Given the description of an element on the screen output the (x, y) to click on. 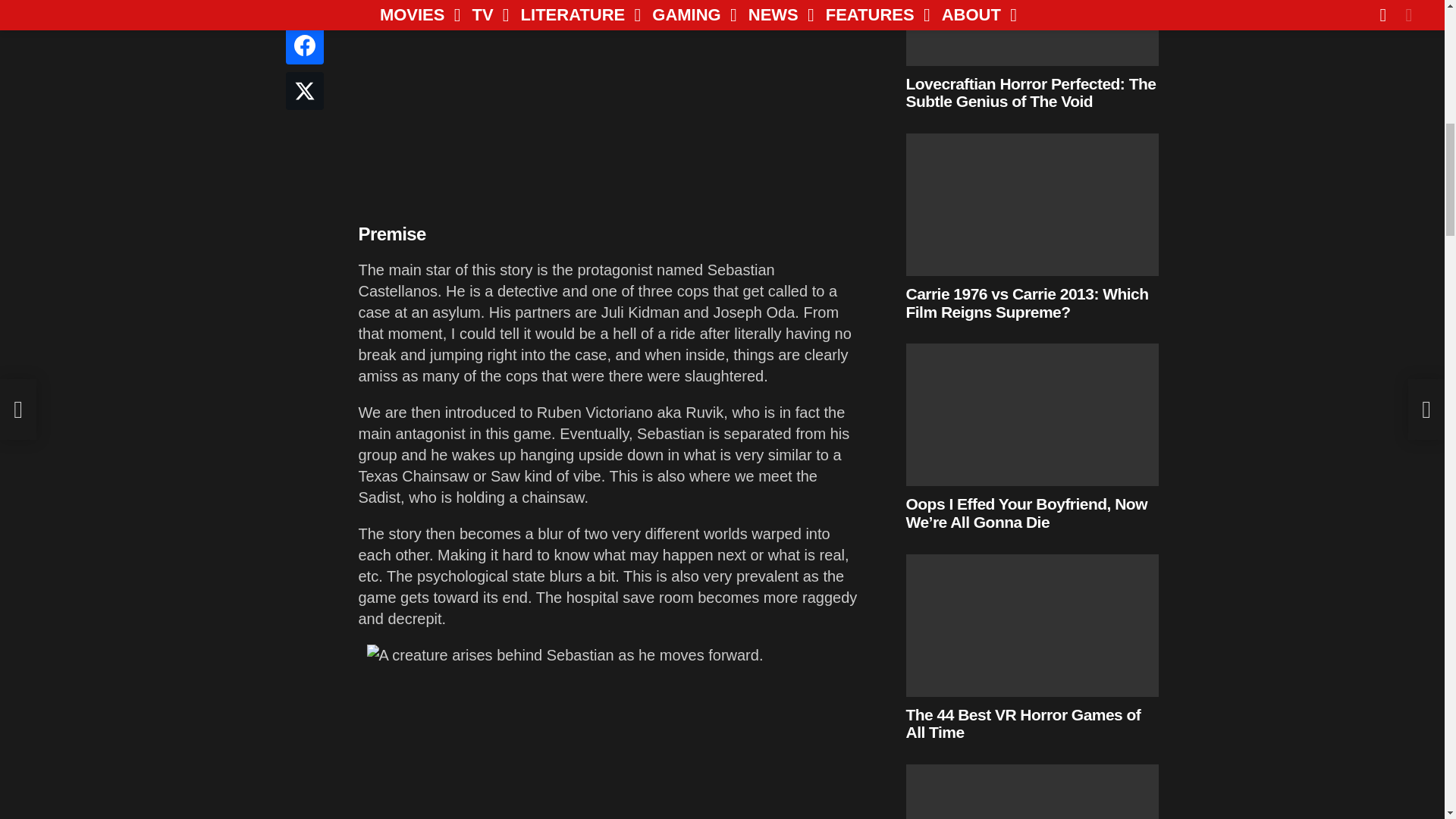
The 44 Best VR Horror Games of All Time (1031, 625)
Carrie 1976 vs Carrie 2013: Which Film Reigns Supreme? (1031, 204)
Lovecraftian Horror Perfected: The Subtle Genius of The Void (1031, 33)
